Given the description of an element on the screen output the (x, y) to click on. 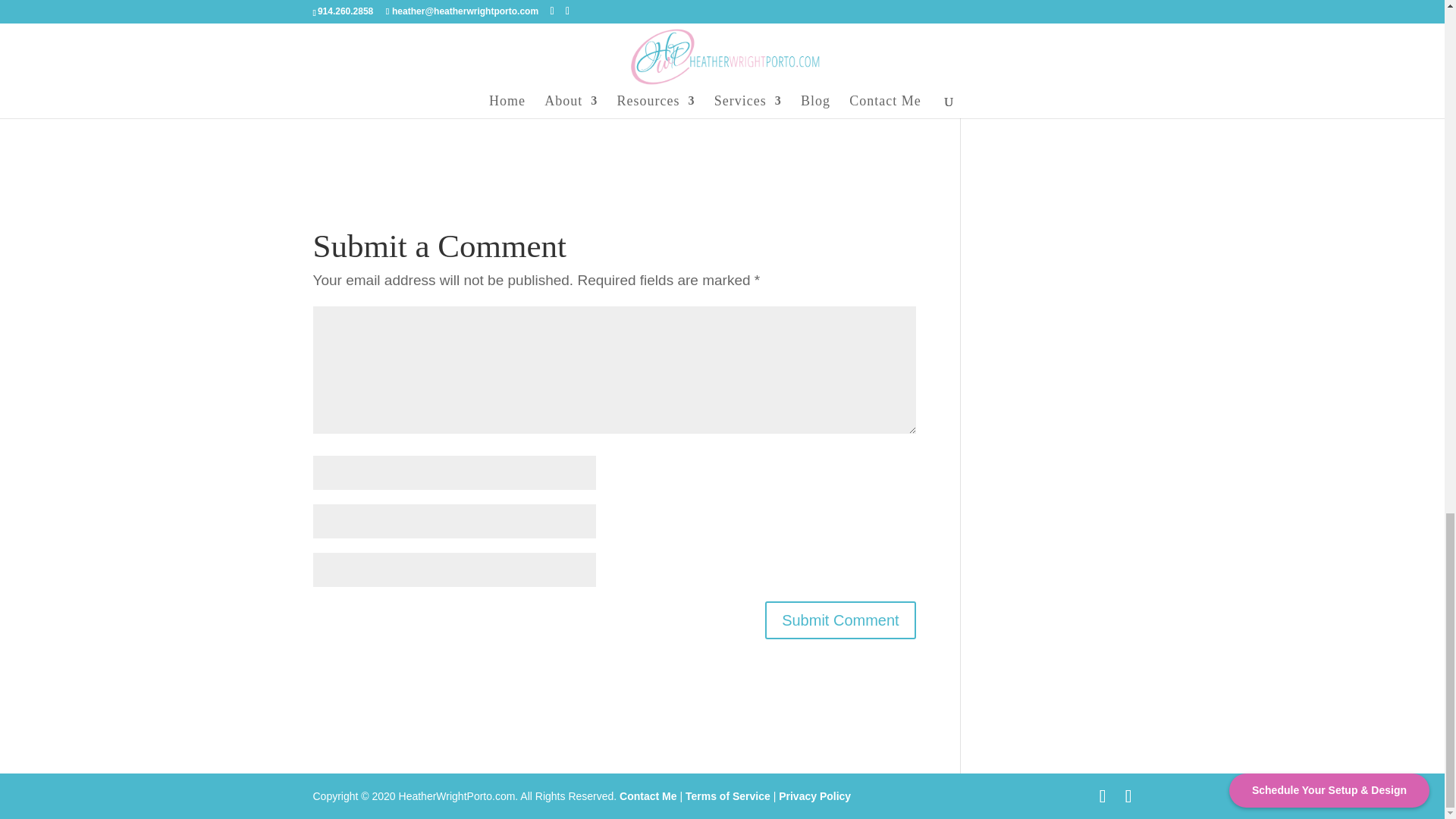
Tweet and Download the Power of Pinterest (379, 35)
Submit Comment (840, 620)
